Given the description of an element on the screen output the (x, y) to click on. 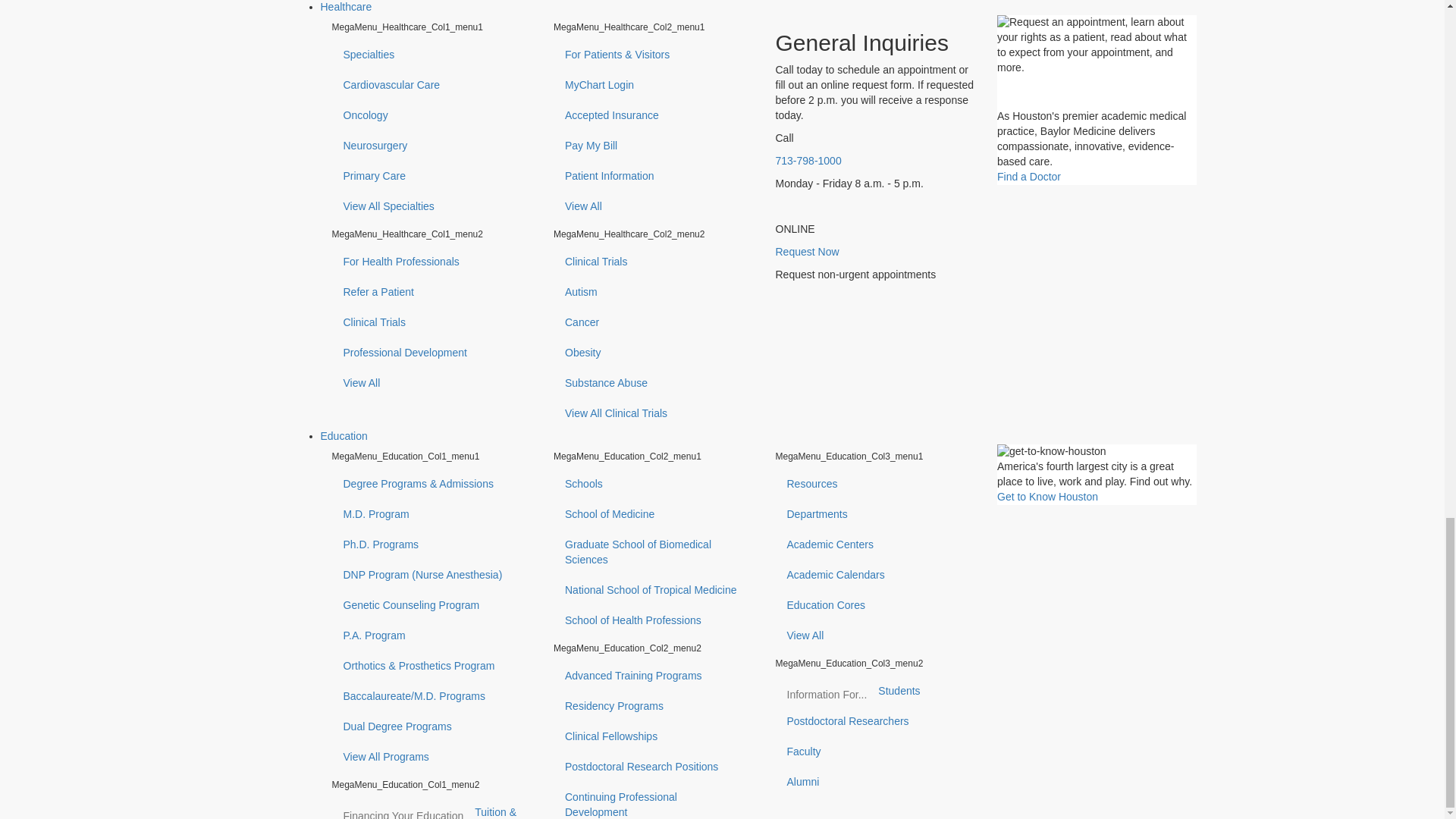
Go to top (58, 809)
Web Request (372, 735)
